Given the description of an element on the screen output the (x, y) to click on. 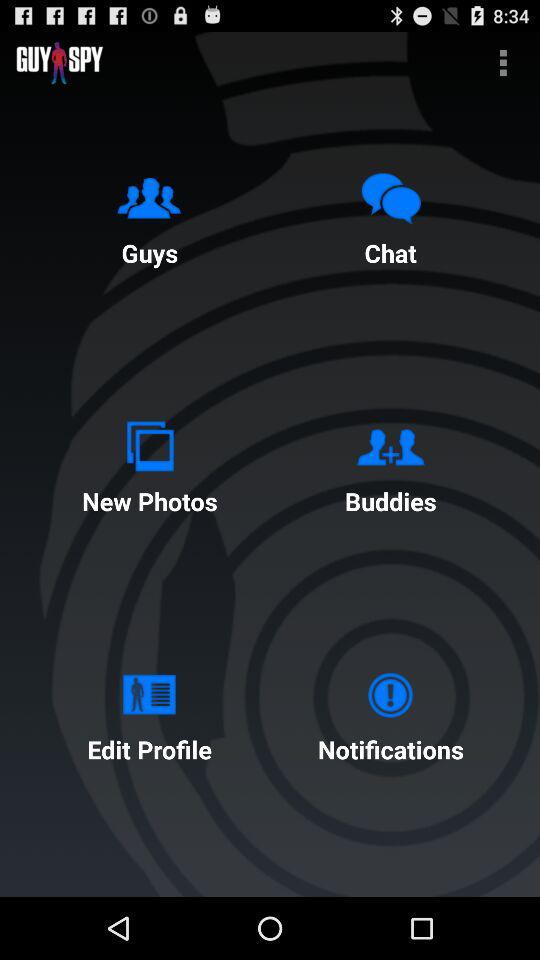
turn on the icon next to chat button (149, 215)
